Given the description of an element on the screen output the (x, y) to click on. 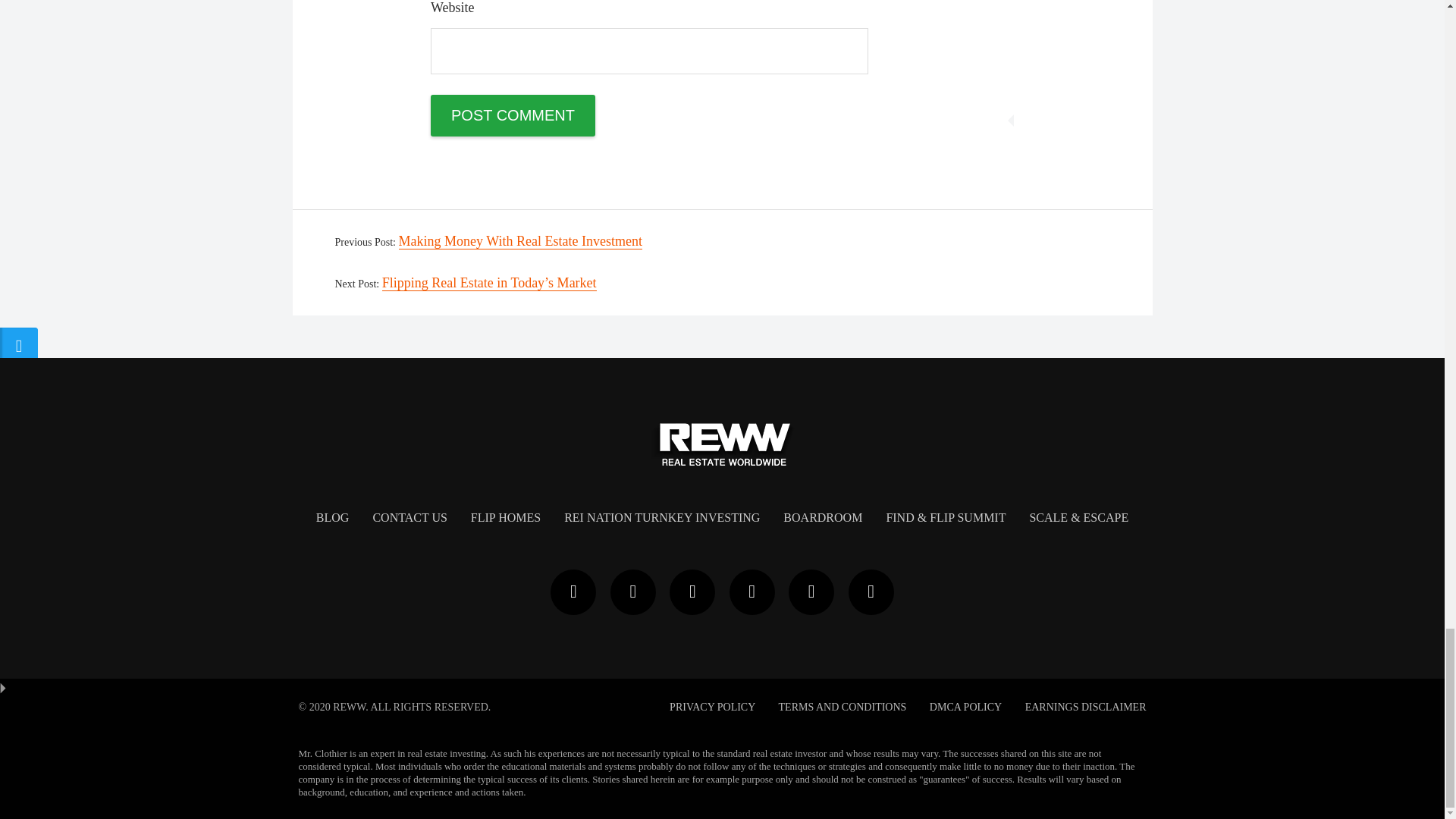
Post Comment (512, 115)
